Given the description of an element on the screen output the (x, y) to click on. 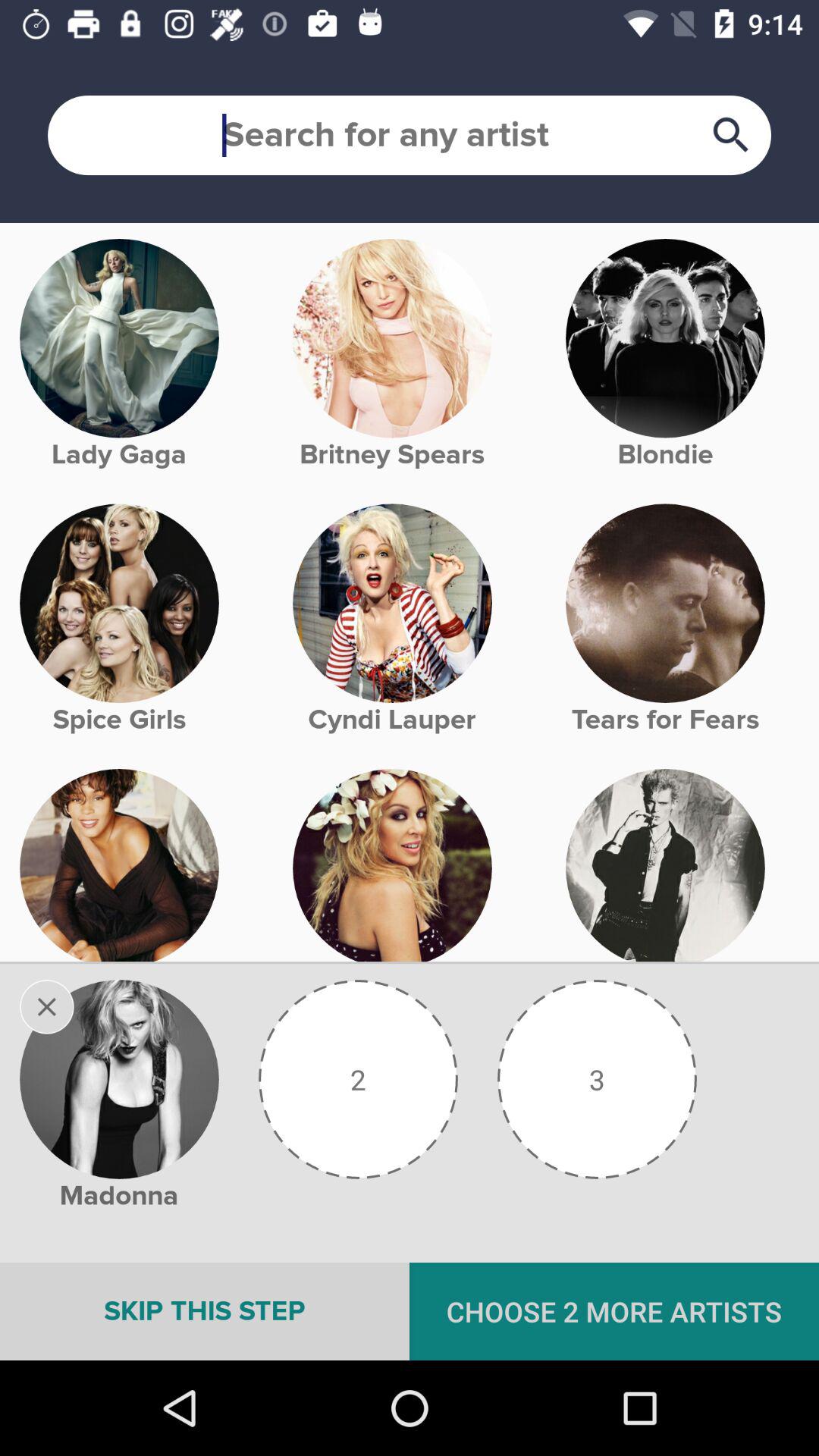
choose icon to the left of the choose 2 more item (204, 1311)
